Given the description of an element on the screen output the (x, y) to click on. 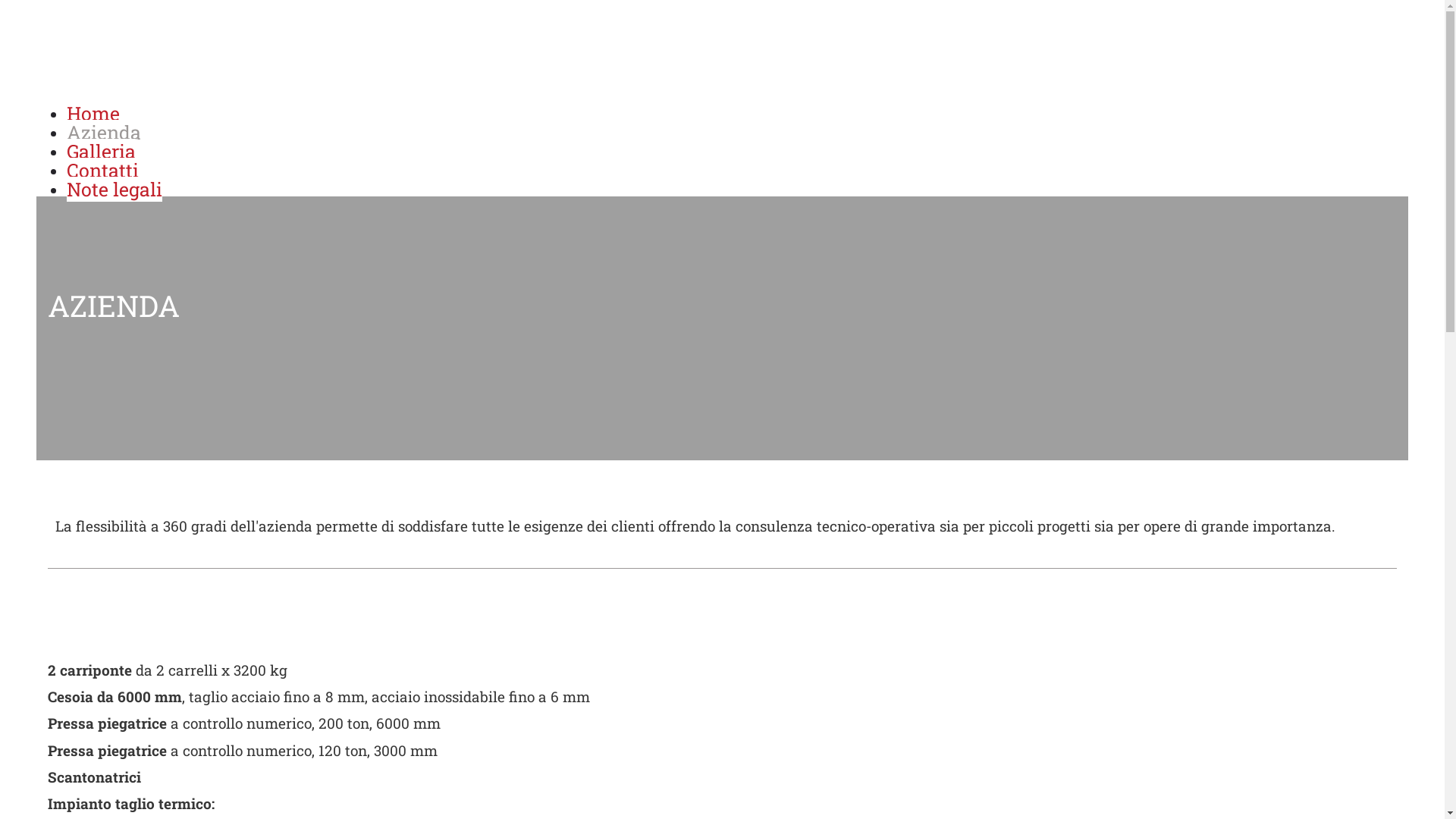
Home Element type: text (92, 112)
Note legali Element type: text (114, 188)
Galleria Element type: text (100, 150)
Azienda Element type: text (103, 131)
Contatti Element type: text (102, 169)
